Given the description of an element on the screen output the (x, y) to click on. 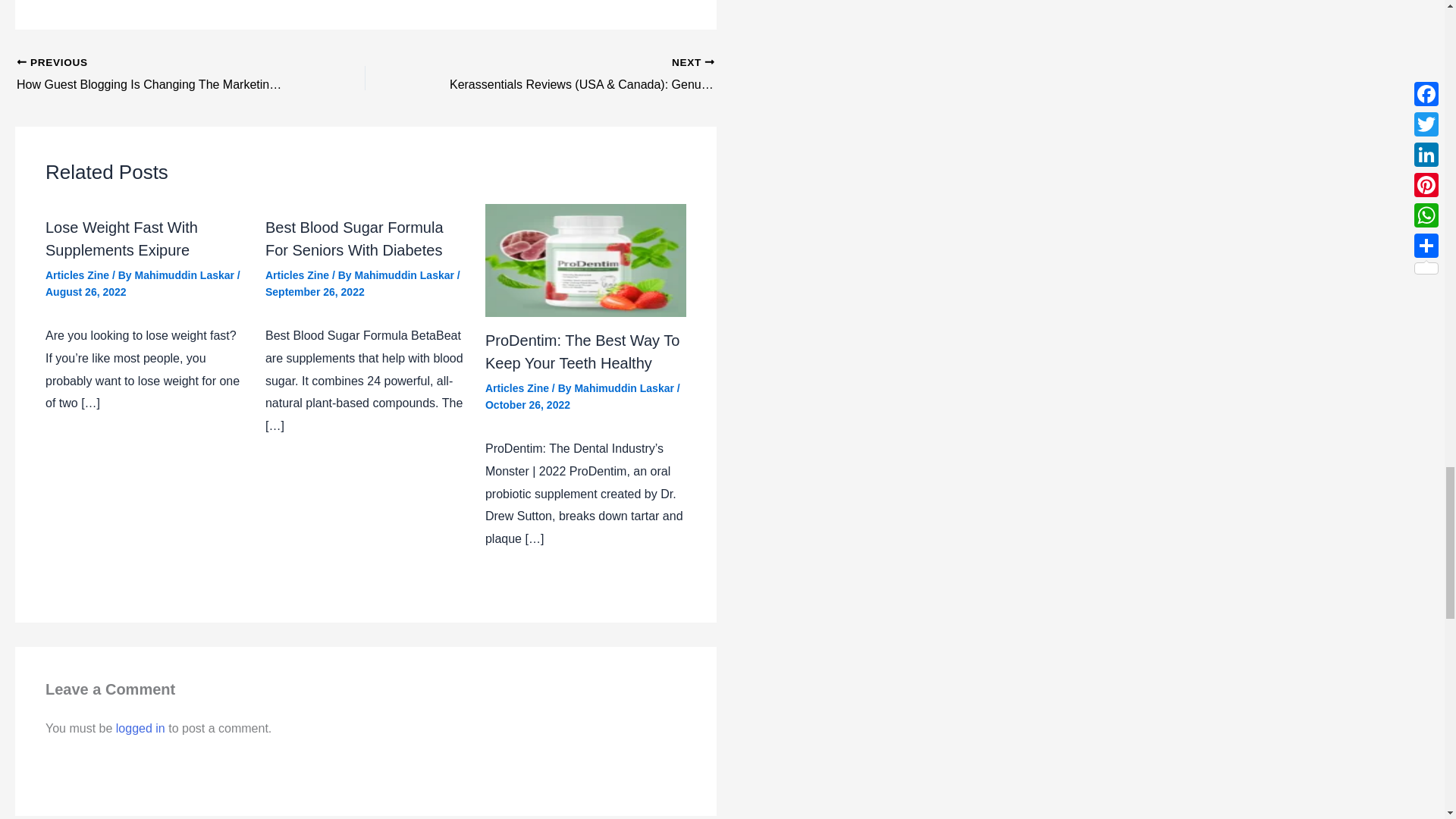
ProDentim: The Best Way To Keep Your Teeth Healthy 1 (584, 259)
How Guest Blogging Is Changing The Marketing Landscape? (156, 75)
View all posts by Mahimuddin Laskar (625, 387)
View all posts by Mahimuddin Laskar (186, 274)
View all posts by Mahimuddin Laskar (405, 274)
